Given the description of an element on the screen output the (x, y) to click on. 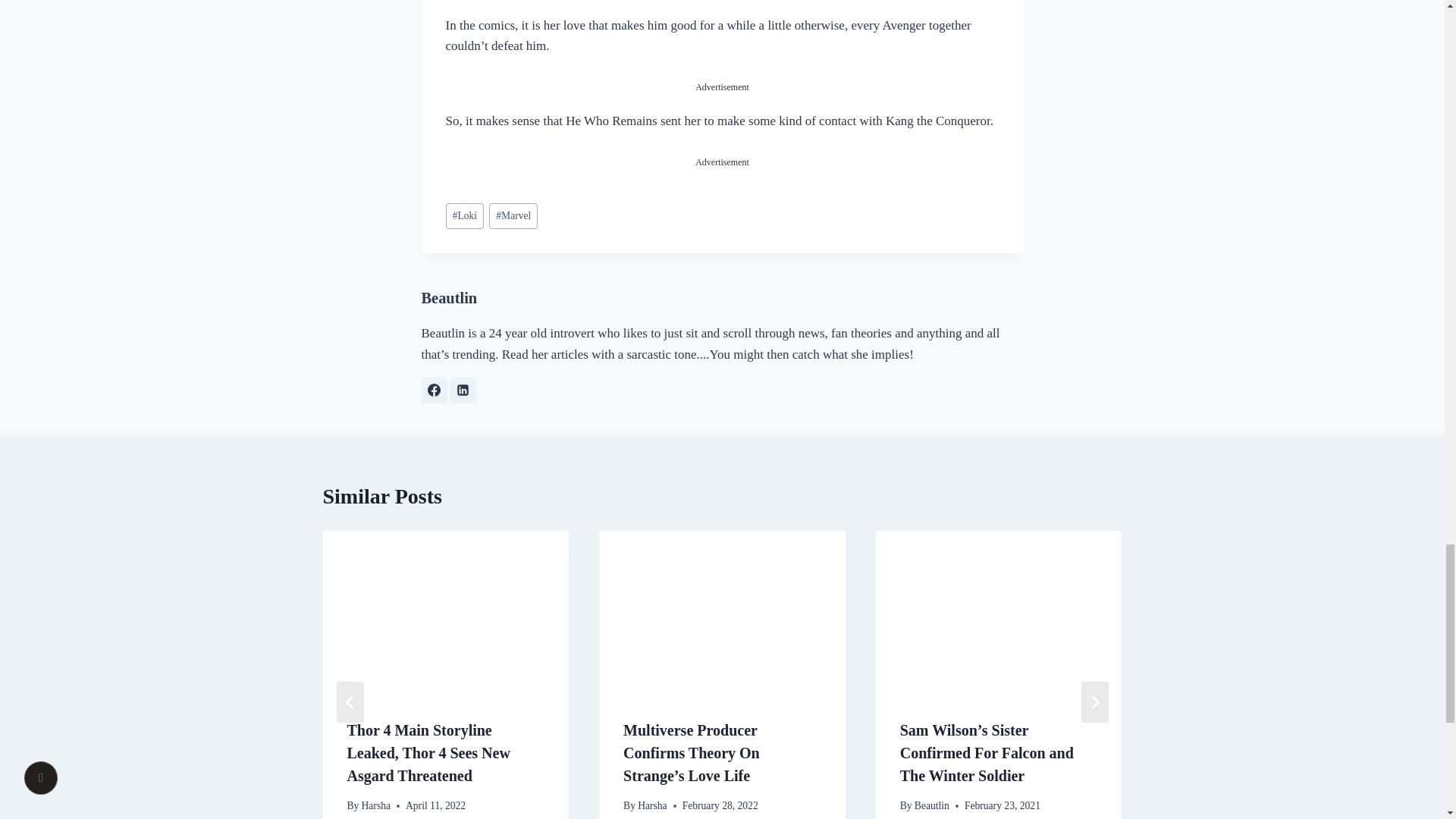
Posts by Beautlin (449, 297)
Follow Beautlin on Linkedin (462, 390)
Loki (464, 216)
Follow Beautlin on Facebook (434, 390)
Beautlin (449, 297)
Marvel (513, 216)
